Given the description of an element on the screen output the (x, y) to click on. 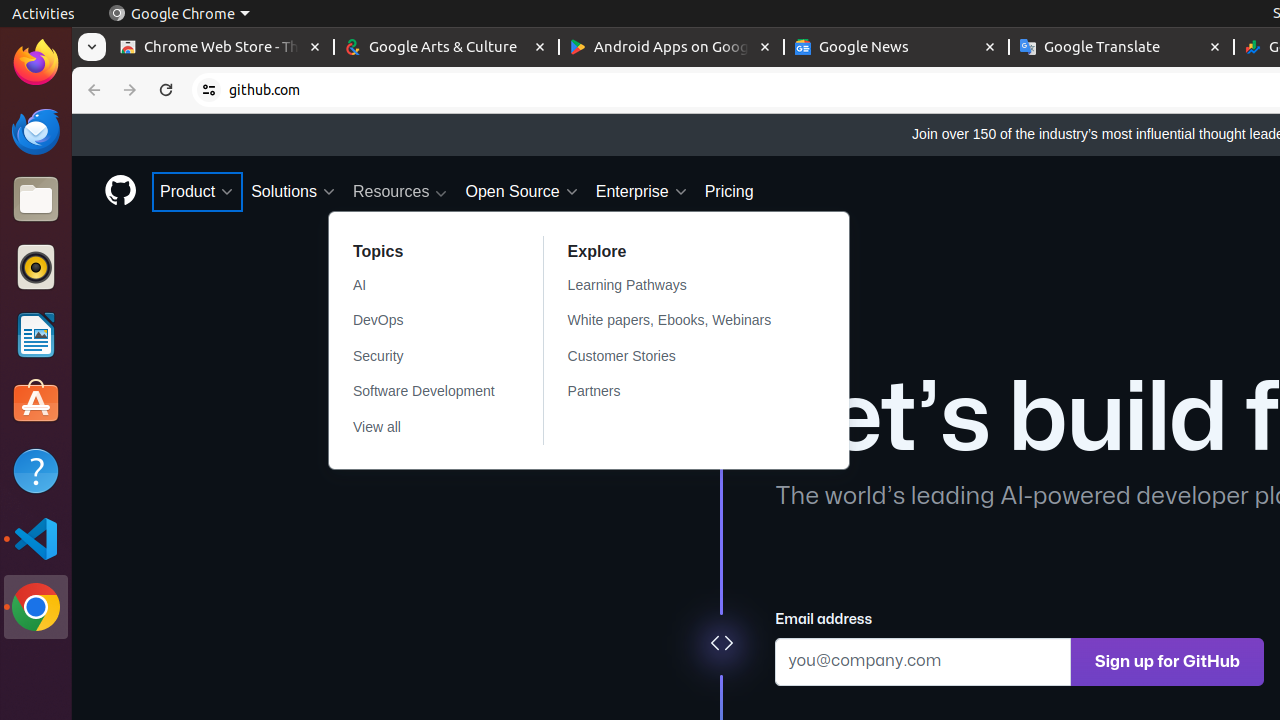
Ubuntu Software Element type: push-button (36, 402)
Sign up for GitHub Element type: push-button (1167, 661)
Firefox Web Browser Element type: push-button (36, 63)
